Given the description of an element on the screen output the (x, y) to click on. 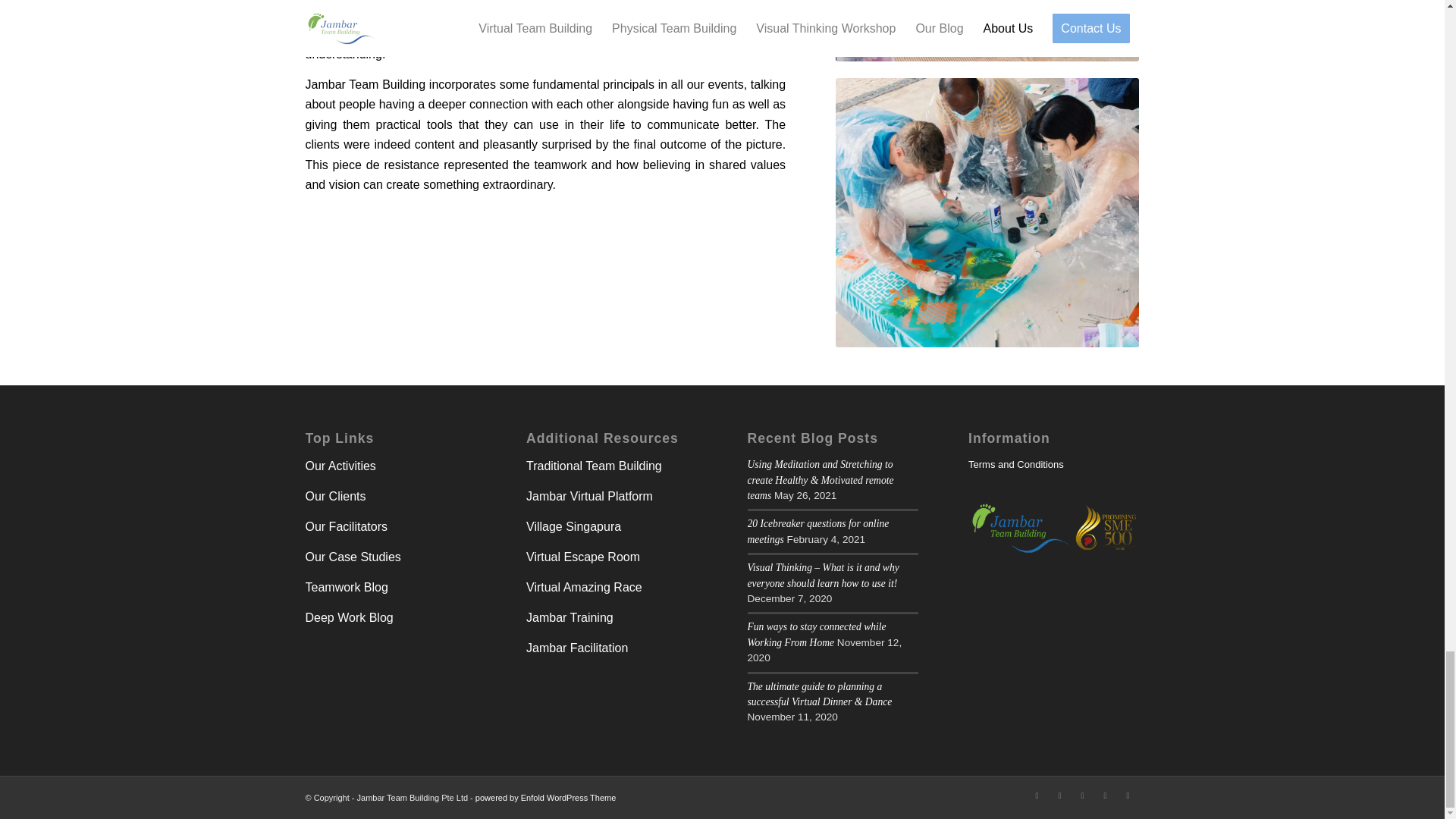
Our Case Studies (352, 556)
Virtual Amazing Race (583, 586)
20 Icebreaker questions for online meetings (818, 530)
Traditional Team Building (593, 465)
Our Facilitators (345, 526)
Jambar Virtual Platform (588, 495)
powered by Enfold WordPress Theme (545, 797)
Jambar Training (568, 617)
Our Activities (339, 465)
Facebook (1036, 794)
Virtual Escape Room (582, 556)
Fun ways to stay connected while Working From Home (817, 633)
Processed with VSCO with g3 preset (986, 30)
Teamwork Blog (345, 586)
Jambar Facilitation (576, 647)
